Given the description of an element on the screen output the (x, y) to click on. 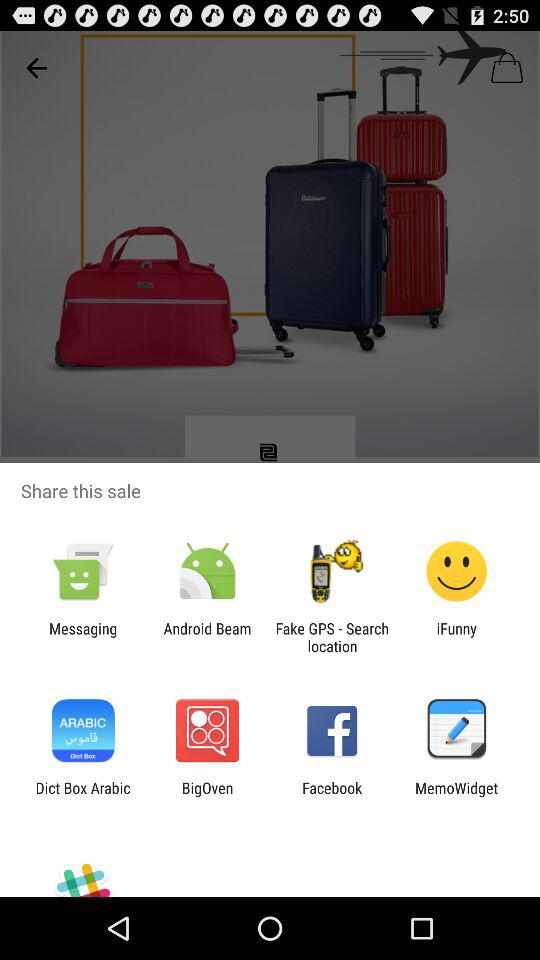
open the fake gps search icon (332, 637)
